Given the description of an element on the screen output the (x, y) to click on. 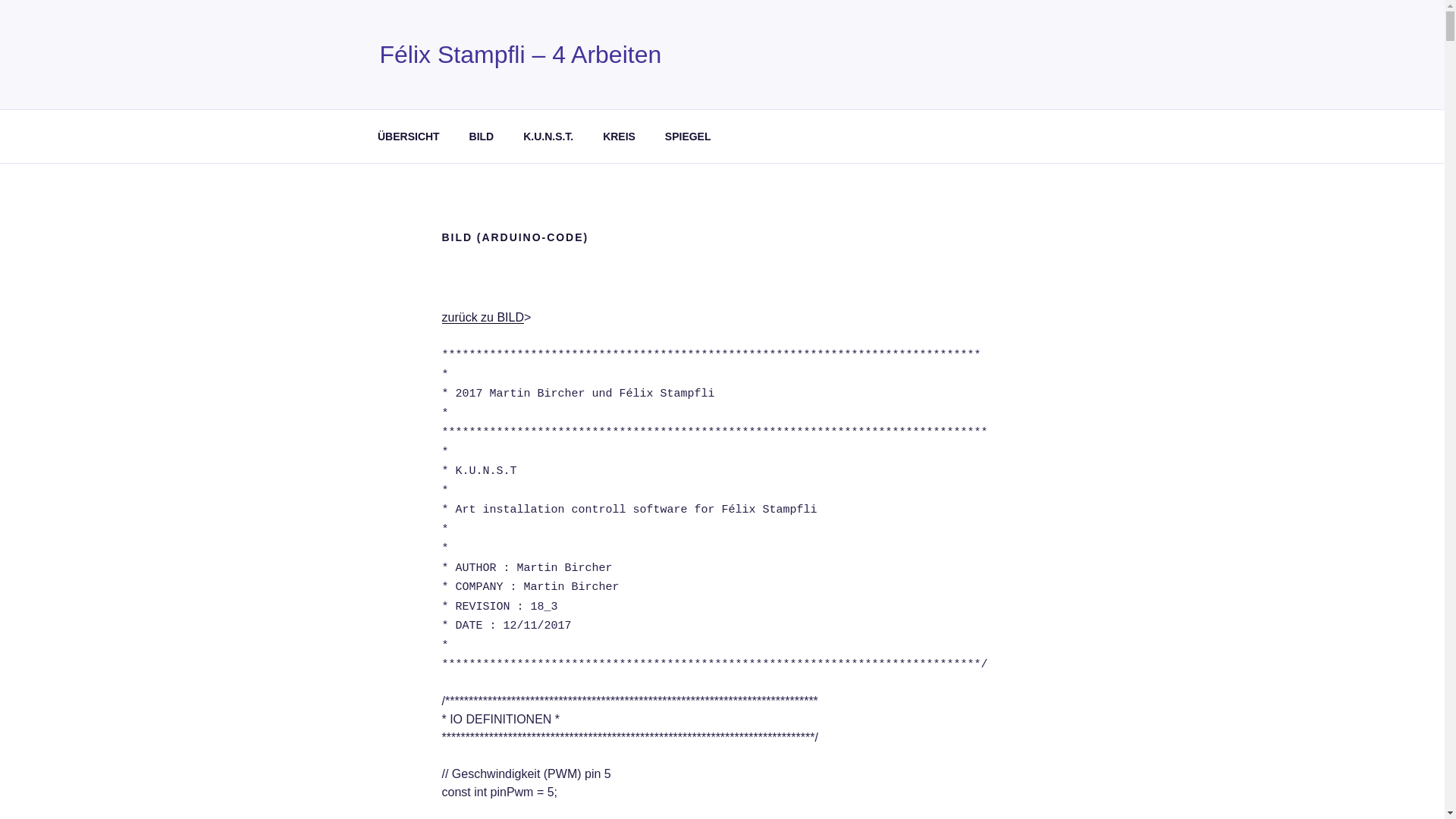
BILD Element type: text (481, 136)
SPIEGEL Element type: text (687, 136)
KREIS Element type: text (619, 136)
K.U.N.S.T. Element type: text (548, 136)
Zum Inhalt springen Element type: text (0, 0)
